Given the description of an element on the screen output the (x, y) to click on. 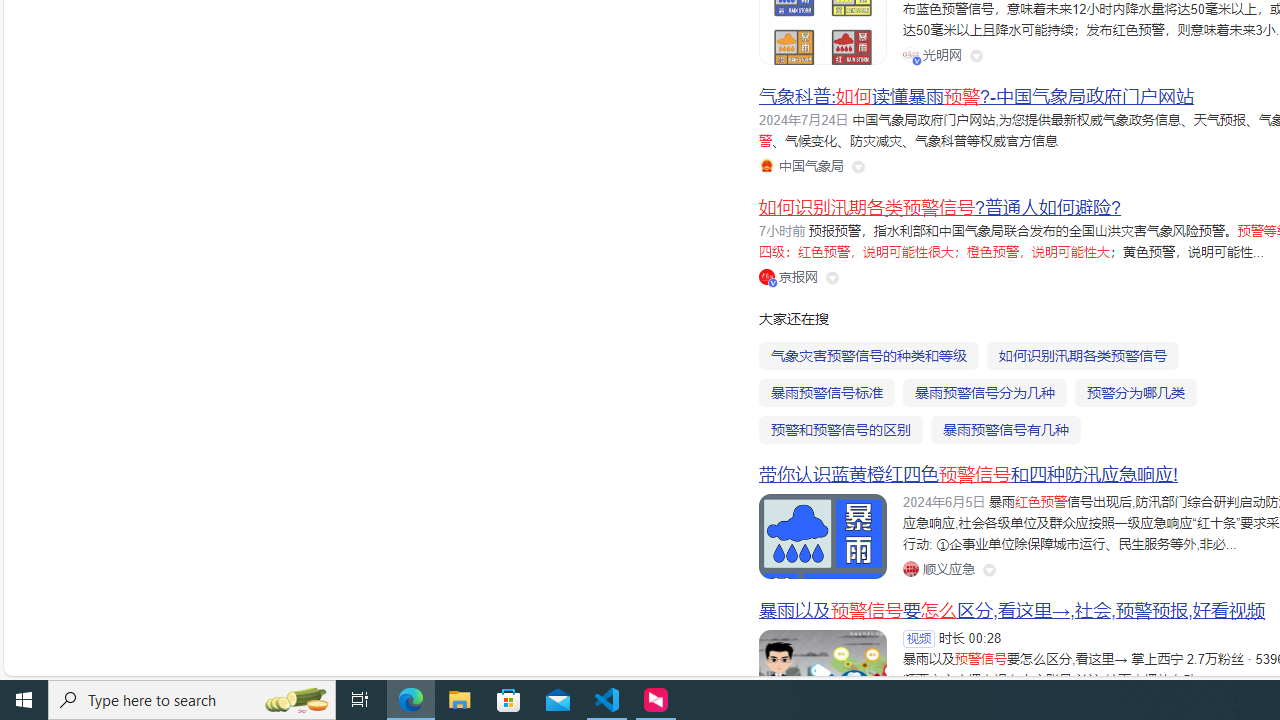
Class: siteLink_9TPP3 (938, 568)
Class: vip-icon_kNmNt (773, 282)
